Given the description of an element on the screen output the (x, y) to click on. 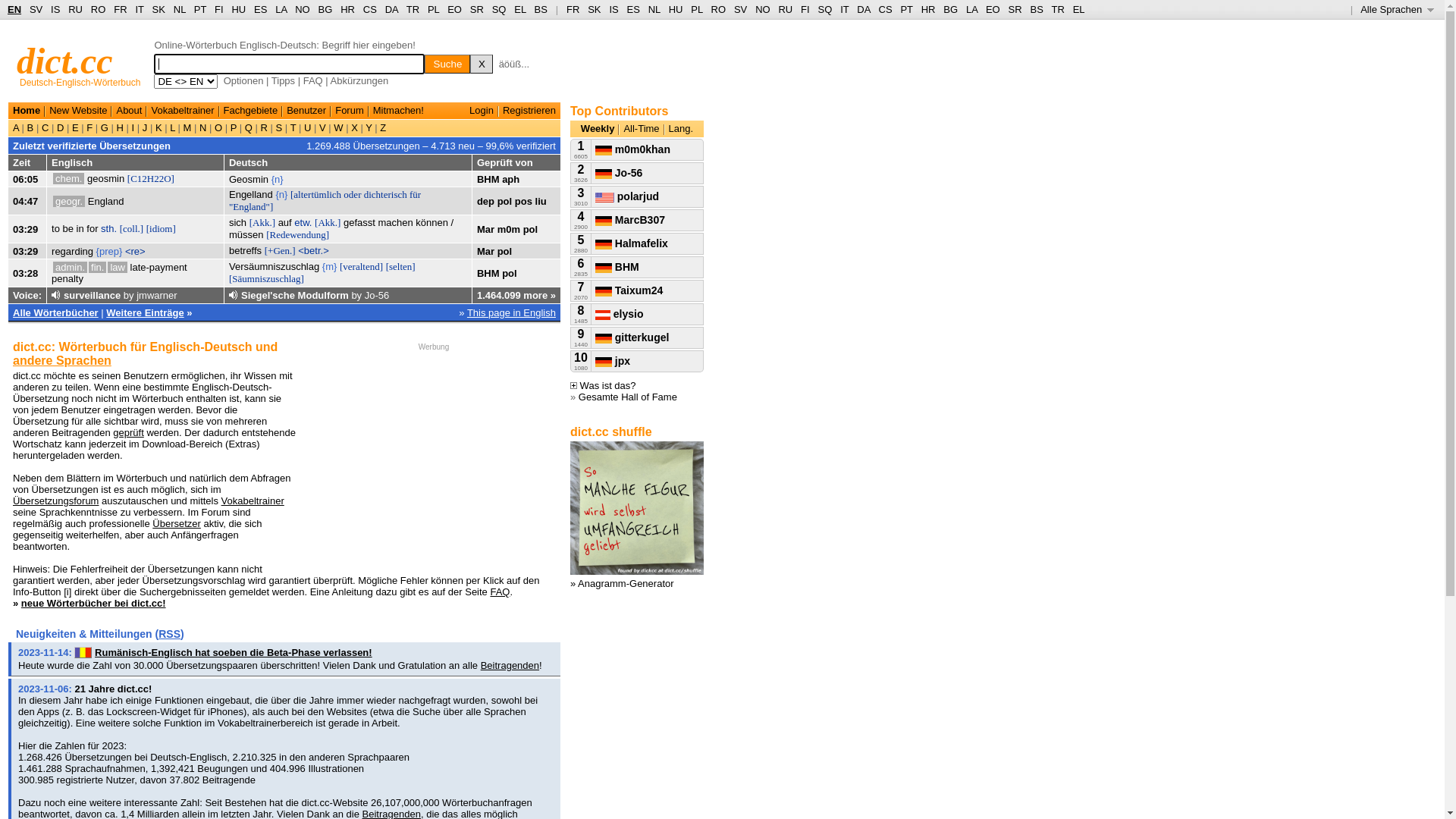
Z Element type: text (381, 127)
03:28 Element type: text (24, 272)
pol Element type: text (504, 201)
L Element type: text (172, 127)
m0m Element type: text (508, 228)
chem. Element type: text (68, 178)
Tipps Element type: text (282, 80)
pol Element type: text (504, 251)
SK Element type: text (158, 9)
FR Element type: text (119, 9)
Mar Element type: text (485, 251)
pos Element type: text (523, 201)
geosmin [C12H22O] Element type: text (130, 178)
G Element type: text (103, 127)
J Element type: text (144, 127)
FAQ Element type: text (499, 591)
RO Element type: text (718, 9)
Forum Element type: text (349, 110)
LA Element type: text (280, 9)
LA Element type: text (971, 9)
DA Element type: text (862, 9)
Weekly Element type: text (597, 128)
BS Element type: text (540, 9)
BHM Element type: text (487, 272)
IT Element type: text (138, 9)
ES Element type: text (633, 9)
DA Element type: text (391, 9)
andere Sprachen Element type: text (61, 360)
PT Element type: text (906, 9)
RU Element type: text (75, 9)
04:47 Element type: text (24, 201)
surveillance Element type: text (91, 295)
BHM Element type: text (487, 178)
Siegel'sche Modulform Element type: text (294, 295)
EL Element type: text (519, 9)
BS Element type: text (1035, 9)
03:29 Element type: text (24, 228)
Voice: Element type: text (26, 295)
England Element type: text (105, 201)
Gesamte Hall of Fame Element type: text (627, 396)
P Element type: text (233, 127)
aph Element type: text (510, 178)
Login Element type: text (481, 110)
IS Element type: text (613, 9)
06:05 Element type: text (24, 178)
EO Element type: text (992, 9)
B Element type: text (30, 127)
Jo-56 Element type: text (376, 295)
m0m0khan Element type: text (632, 149)
V Element type: text (322, 127)
Mitmachen! Element type: text (398, 110)
NL Element type: text (179, 9)
EN Element type: text (14, 9)
All-Time Element type: text (640, 128)
pol Element type: text (509, 272)
IS Element type: text (54, 9)
X Element type: text (354, 127)
Home Element type: text (26, 110)
HR Element type: text (347, 9)
admin. Element type: text (70, 267)
BG Element type: text (325, 9)
W Element type: text (338, 127)
Registrieren Element type: text (528, 110)
E Element type: text (75, 127)
geogr. Element type: text (68, 201)
RSS Element type: text (169, 633)
U Element type: text (307, 127)
K Element type: text (158, 127)
SV Element type: text (35, 9)
pol Element type: text (530, 228)
EL Element type: text (1079, 9)
Optionen Element type: text (243, 80)
About Element type: text (128, 110)
T Element type: text (292, 127)
SQ Element type: text (499, 9)
C Element type: text (44, 127)
late-payment penalty Element type: text (119, 272)
HR Element type: text (928, 9)
ES Element type: text (260, 9)
NO Element type: text (302, 9)
jmwarner Element type: text (156, 295)
S Element type: text (279, 127)
to be in for sth. [coll.] [idiom] Element type: text (113, 228)
Taixum24 Element type: text (628, 290)
HU Element type: text (238, 9)
N Element type: text (202, 127)
M Element type: text (187, 127)
Beitragenden Element type: text (509, 665)
elysio Element type: text (619, 313)
EO Element type: text (454, 9)
SR Element type: text (1015, 9)
Vokabeltrainer Element type: text (181, 110)
CS Element type: text (884, 9)
Lang. Element type: text (680, 128)
03:29 Element type: text (24, 251)
betreffs [+Gen.] <betr.> Element type: text (279, 250)
PT Element type: text (200, 9)
CS Element type: text (369, 9)
gitterkugel Element type: text (631, 337)
SR Element type: text (476, 9)
H Element type: text (119, 127)
PL Element type: text (696, 9)
TR Element type: text (1057, 9)
TR Element type: text (412, 9)
Y Element type: text (368, 127)
liu Element type: text (540, 201)
jpx Element type: text (612, 360)
Suche Element type: text (447, 63)
fin. Element type: text (97, 267)
FI Element type: text (804, 9)
SV Element type: text (740, 9)
NO Element type: text (762, 9)
Fachgebiete Element type: text (250, 110)
F Element type: text (89, 127)
O Element type: text (217, 127)
FI Element type: text (218, 9)
IT Element type: text (844, 9)
Jo-56 Element type: text (618, 172)
D Element type: text (59, 127)
BHM Element type: text (617, 266)
polarjud Element type: text (626, 196)
MarcB307 Element type: text (630, 219)
FAQ Element type: text (313, 80)
This page in English Element type: text (511, 311)
Q Element type: text (247, 127)
A Element type: text (16, 127)
NL Element type: text (654, 9)
Mar Element type: text (485, 228)
RO Element type: text (98, 9)
Vokabeltrainer Element type: text (252, 500)
law Element type: text (117, 267)
X Element type: text (481, 63)
New Website Element type: text (77, 110)
BG Element type: text (950, 9)
dict.cc Element type: text (64, 60)
Was ist das? Element type: text (603, 385)
SQ Element type: text (824, 9)
I Element type: text (132, 127)
Benutzer Element type: text (306, 110)
RU Element type: text (785, 9)
Alle Sprachen  Element type: text (1397, 9)
dep Element type: text (485, 201)
SK Element type: text (593, 9)
Halmafelix Element type: text (631, 243)
HU Element type: text (675, 9)
FR Element type: text (572, 9)
PL Element type: text (433, 9)
R Element type: text (263, 127)
